Given the description of an element on the screen output the (x, y) to click on. 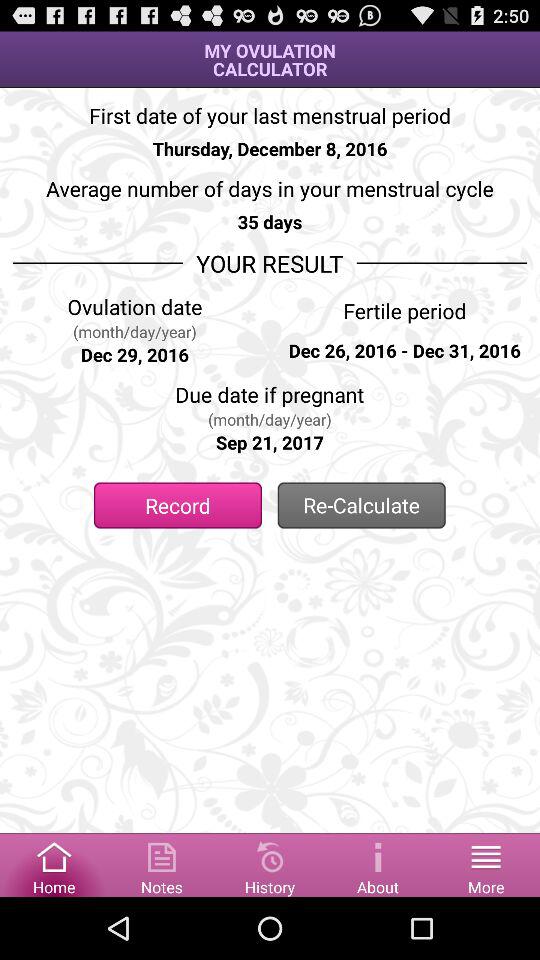
click to the home page (54, 864)
